Given the description of an element on the screen output the (x, y) to click on. 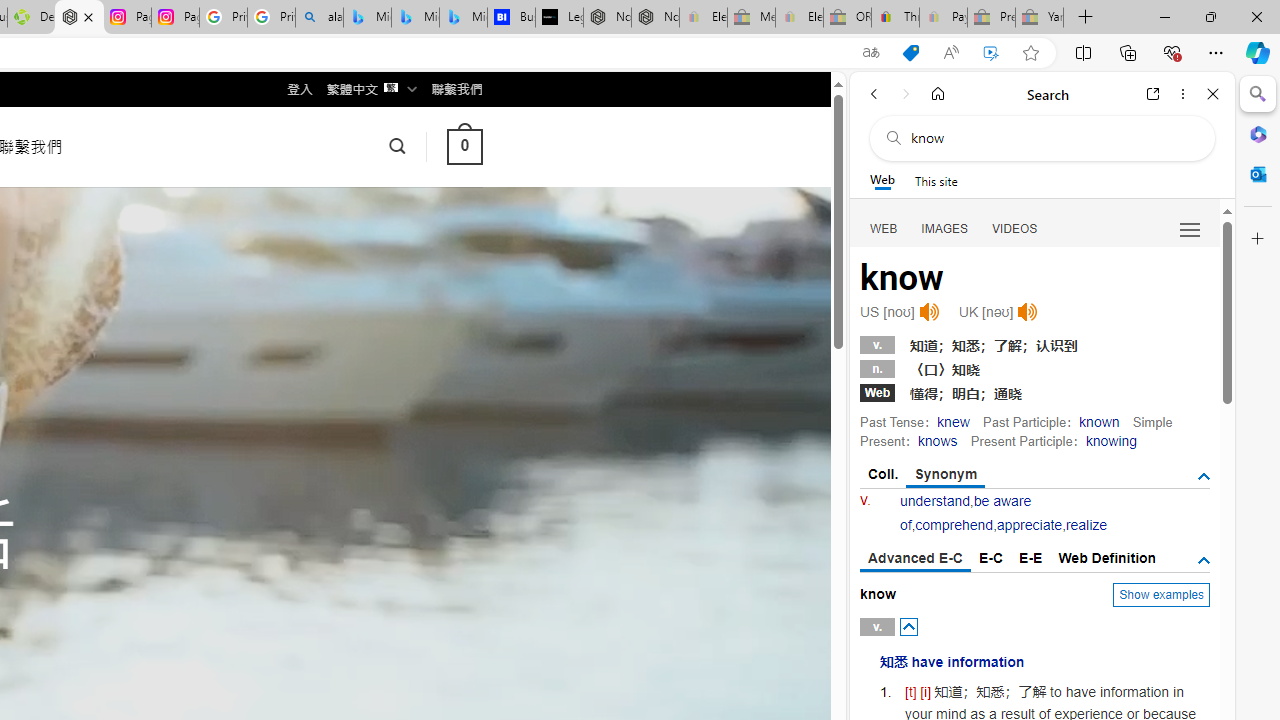
Yard, Garden & Outdoor Living - Sleeping (1039, 17)
Click to listen (1027, 312)
knew (953, 421)
This site has coupons! Shopping in Microsoft Edge (910, 53)
Search Filter, IMAGES (944, 228)
